Given the description of an element on the screen output the (x, y) to click on. 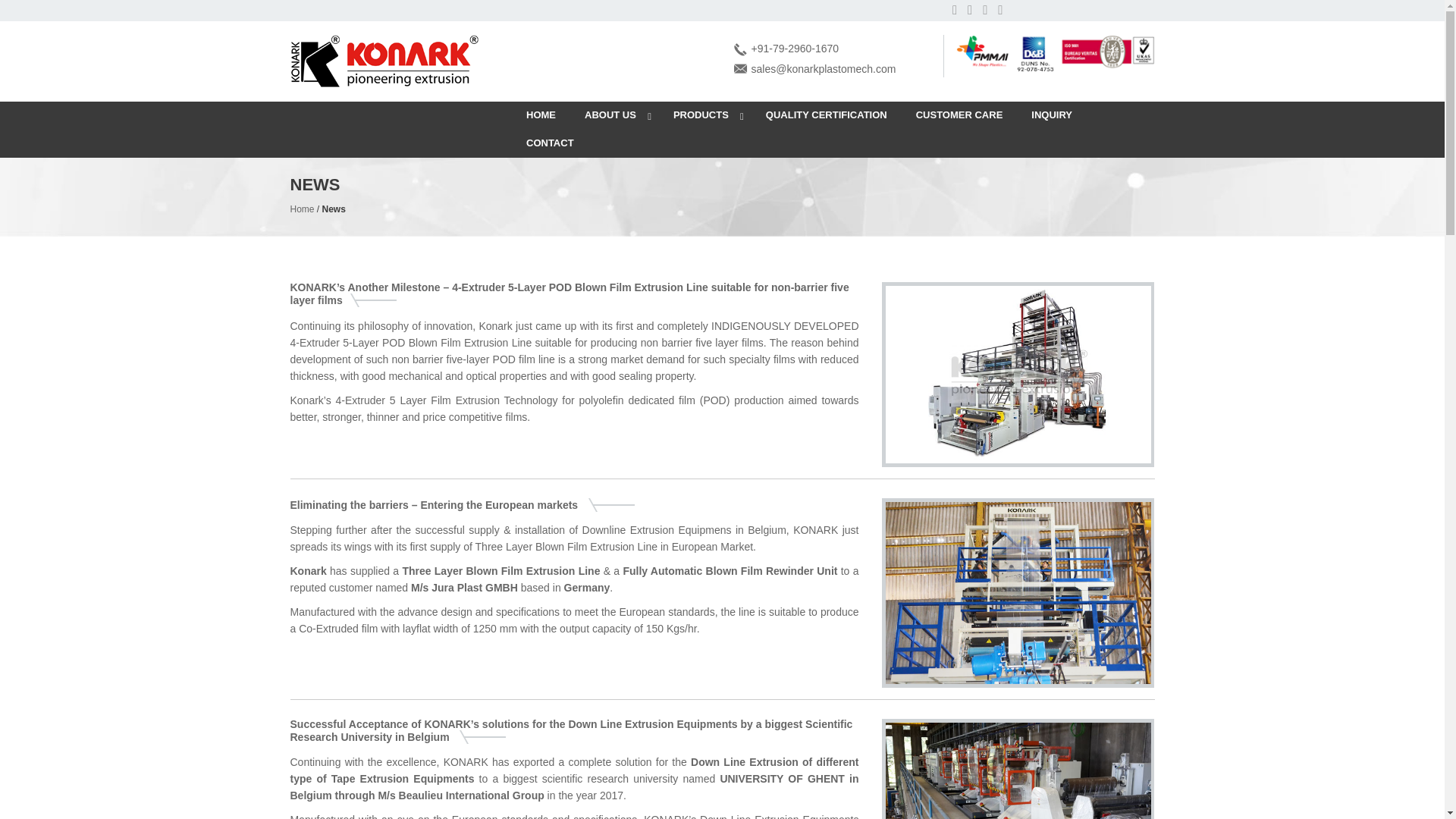
QUALITY CERTIFICATION (826, 115)
CONTACT (550, 143)
HOME (541, 115)
PRODUCTS (705, 115)
INQUIRY (1051, 115)
CUSTOMER CARE (959, 115)
Home (301, 208)
ABOUT US (614, 115)
